Given the description of an element on the screen output the (x, y) to click on. 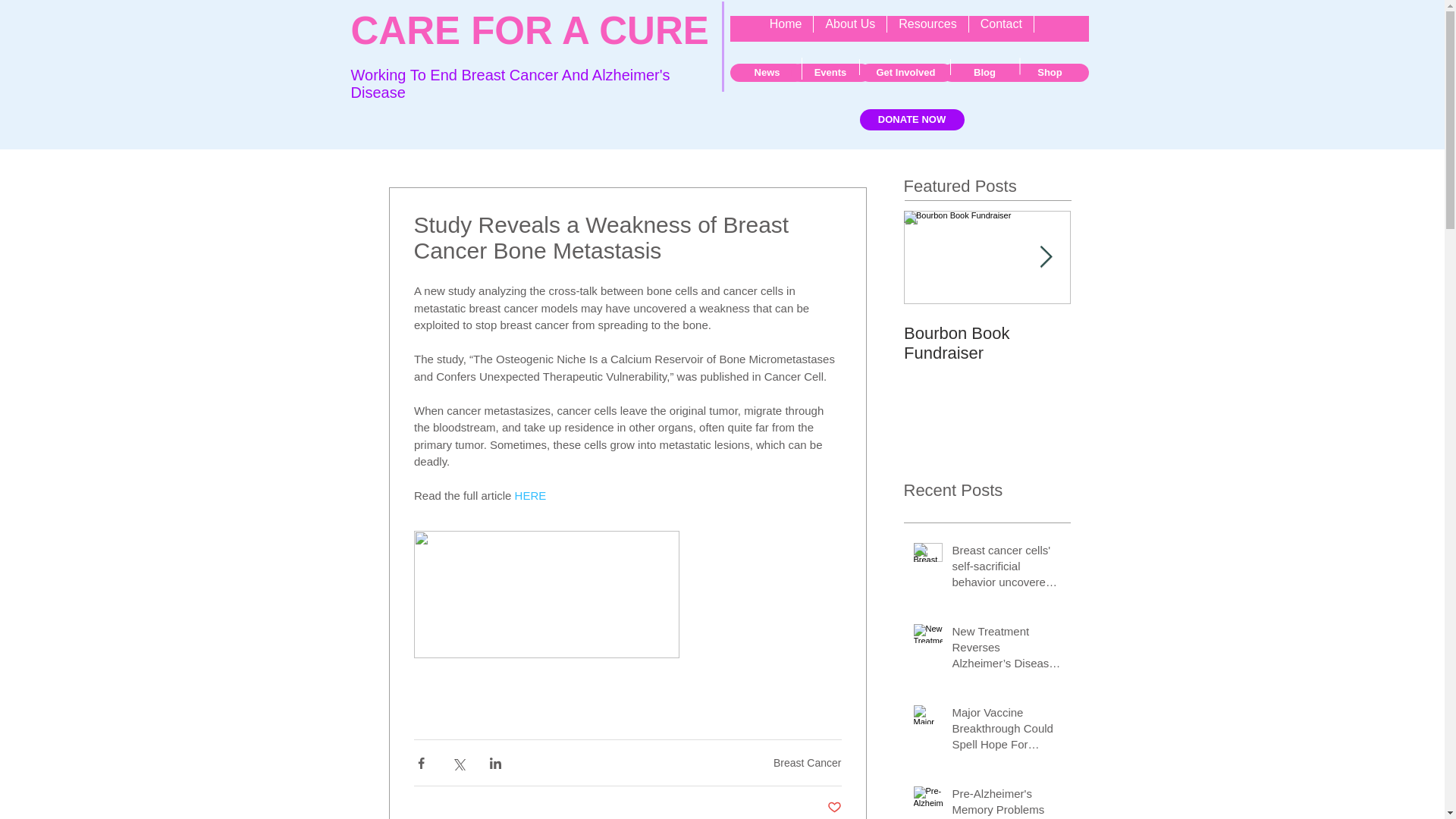
News (766, 72)
Blog (984, 72)
Breast Cancer (807, 762)
Home (785, 28)
Contact (1000, 28)
CARE FOR A CURE (528, 30)
Events (829, 72)
Pre-Alzheimer's Memory Problems Linked to Loss of Serotonin (1006, 802)
DONATE NOW (911, 119)
Resources (927, 28)
Post not marked as liked (834, 807)
Shop (1050, 72)
Get Involved (906, 72)
